Given the description of an element on the screen output the (x, y) to click on. 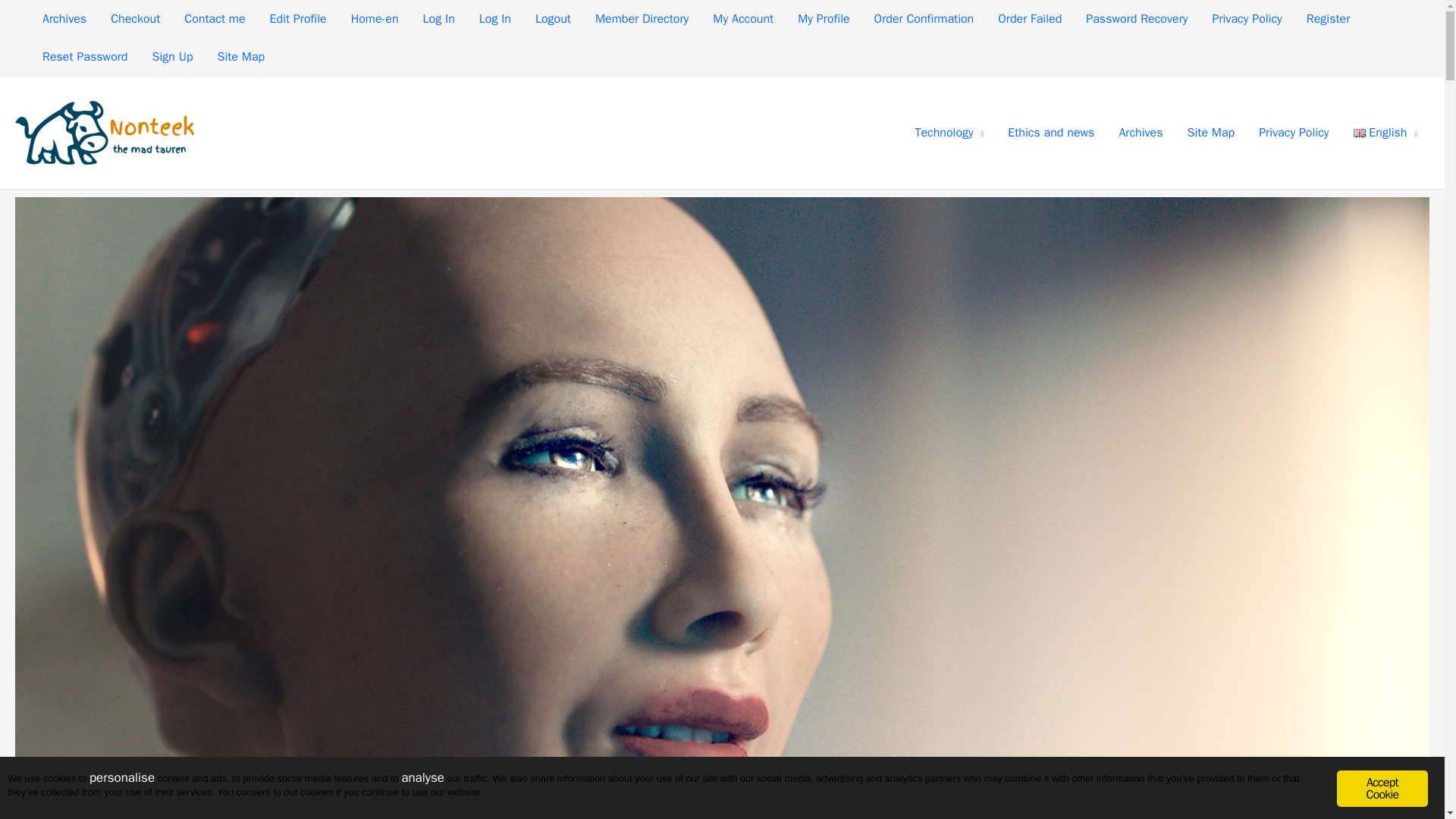
Reset Password (84, 56)
Register (1328, 18)
Sign Up (172, 56)
Member Directory (641, 18)
Privacy Policy (1246, 18)
Site Map (1210, 132)
Password Recovery (1136, 18)
Home-en (374, 18)
Site Map (240, 56)
Log In (438, 18)
Privacy Policy (1293, 132)
Order Confirmation (924, 18)
Contact me (214, 18)
My Account (743, 18)
Technology (948, 132)
